Given the description of an element on the screen output the (x, y) to click on. 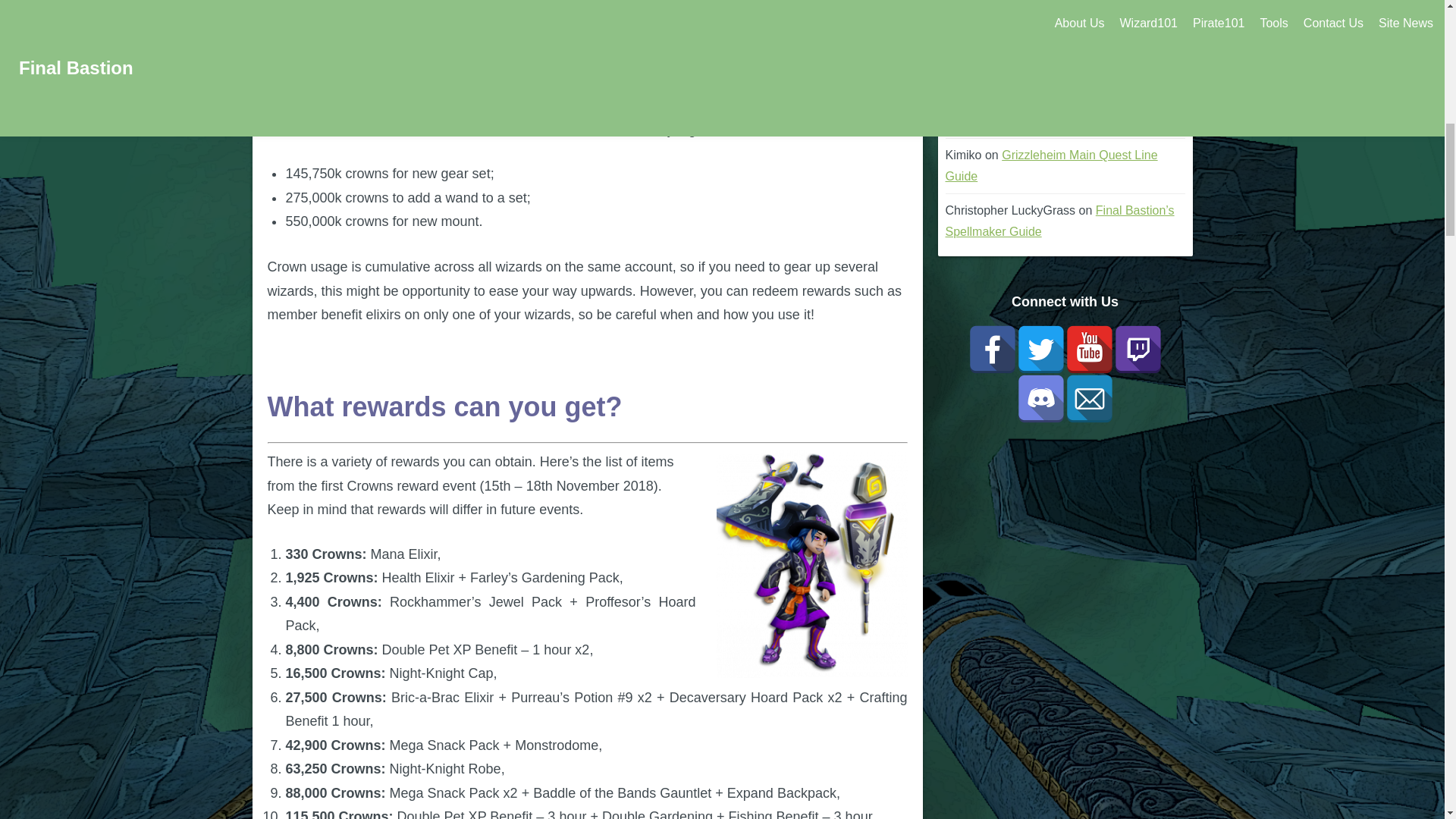
Twitter (1040, 349)
Twitch (1137, 349)
Discord (1040, 398)
Facebook (992, 349)
YouTube (1088, 349)
Email (1088, 398)
